Given the description of an element on the screen output the (x, y) to click on. 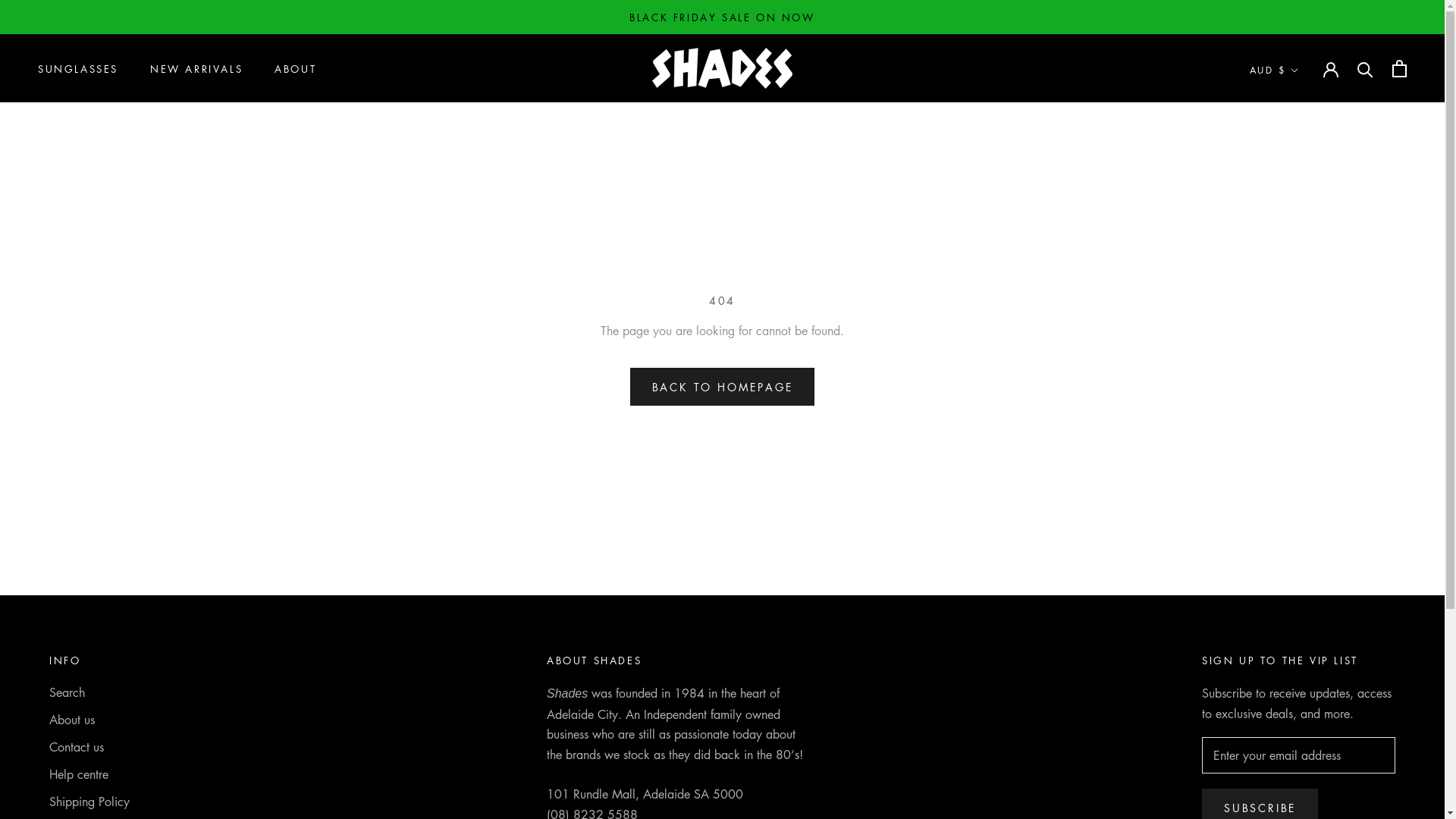
BGN Element type: text (1301, 353)
CDF Element type: text (1301, 533)
CRC Element type: text (1301, 600)
Search Element type: text (102, 692)
CNY Element type: text (1301, 578)
Shipping Policy Element type: text (102, 801)
AMD Element type: text (1301, 171)
BIF Element type: text (1301, 375)
BND Element type: text (1301, 397)
ANG Element type: text (1301, 194)
AWG Element type: text (1301, 240)
BOB Element type: text (1301, 420)
SUNGLASSES
SUNGLASSES Element type: text (77, 68)
BACK TO HOMEPAGE Element type: text (722, 386)
BWP Element type: text (1301, 466)
AUD $ Element type: text (1274, 70)
About us Element type: text (102, 719)
ABOUT Element type: text (295, 68)
CVE Element type: text (1301, 623)
NEW ARRIVALS
NEW ARRIVALS Element type: text (196, 68)
AFN Element type: text (1301, 127)
ETB Element type: text (1301, 782)
EUR Element type: text (1301, 804)
Help centre Element type: text (102, 774)
AZN Element type: text (1301, 262)
BZD Element type: text (1301, 487)
BDT Element type: text (1301, 330)
BBD Element type: text (1301, 307)
CHF Element type: text (1301, 556)
BAM Element type: text (1301, 284)
AUD Element type: text (1301, 217)
DOP Element type: text (1301, 713)
ALL Element type: text (1301, 149)
Contact us Element type: text (102, 746)
DJF Element type: text (1301, 669)
DKK Element type: text (1301, 691)
DZD Element type: text (1301, 736)
CZK Element type: text (1301, 646)
BSD Element type: text (1301, 443)
BLACK FRIDAY SALE ON NOW Element type: text (721, 16)
CAD Element type: text (1301, 510)
AED Element type: text (1301, 104)
EGP Element type: text (1301, 759)
